Given the description of an element on the screen output the (x, y) to click on. 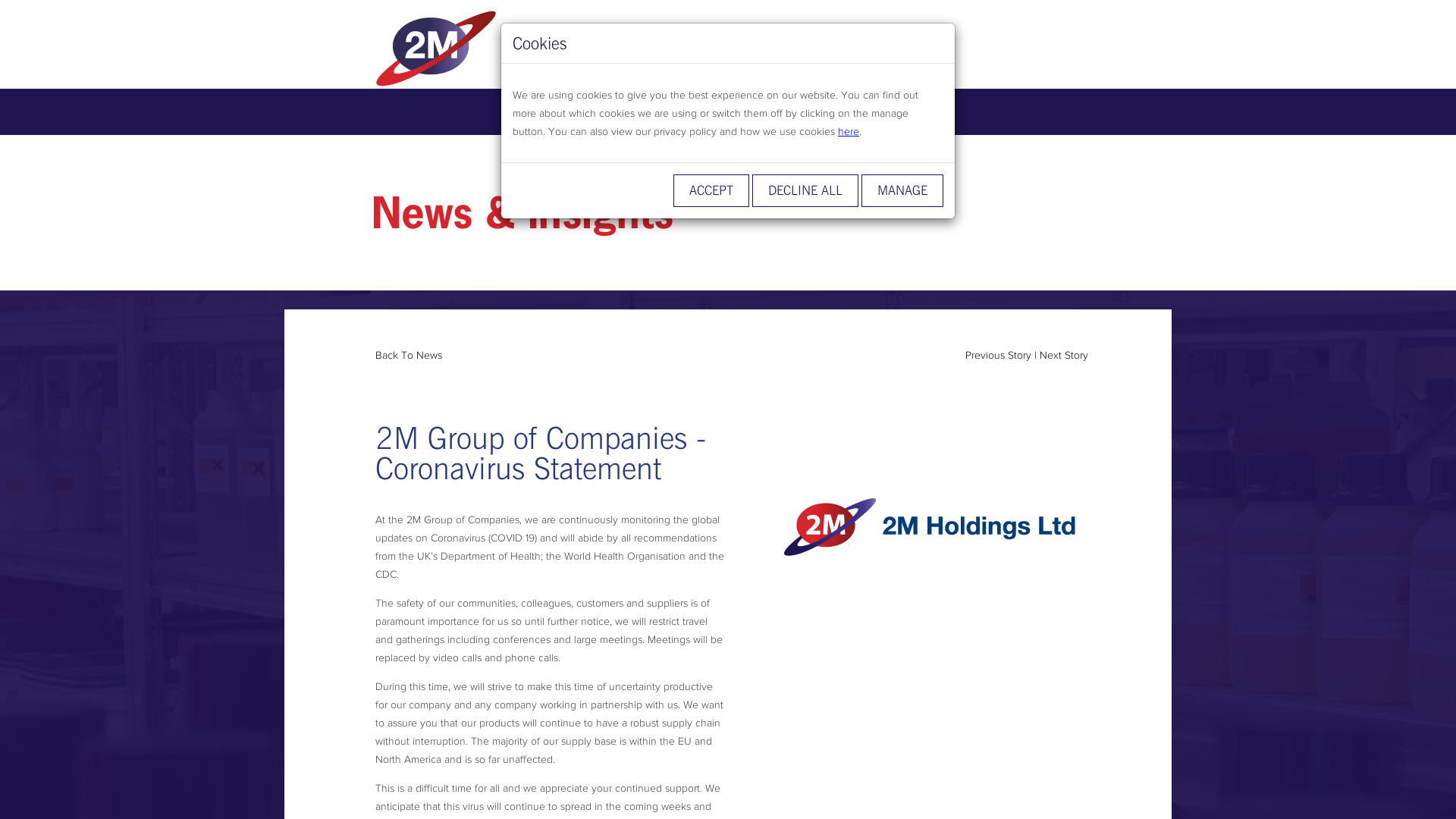
Previous Story Element type: text (998, 354)
Back To News Element type: text (408, 354)
HOME Element type: text (541, 111)
Email: info@2mservices.com Element type: text (815, 50)
Services Element type: text (491, 47)
here Element type: text (848, 131)
CONTACT US Element type: text (896, 111)
OUR SERVICES Element type: text (638, 111)
ACCEPT Element type: text (711, 190)
DECLINE ALL Element type: text (805, 190)
NEWS & INSIGHTS Element type: text (770, 111)
MANAGE Element type: text (902, 190)
| Next Story Element type: text (1061, 354)
